Given the description of an element on the screen output the (x, y) to click on. 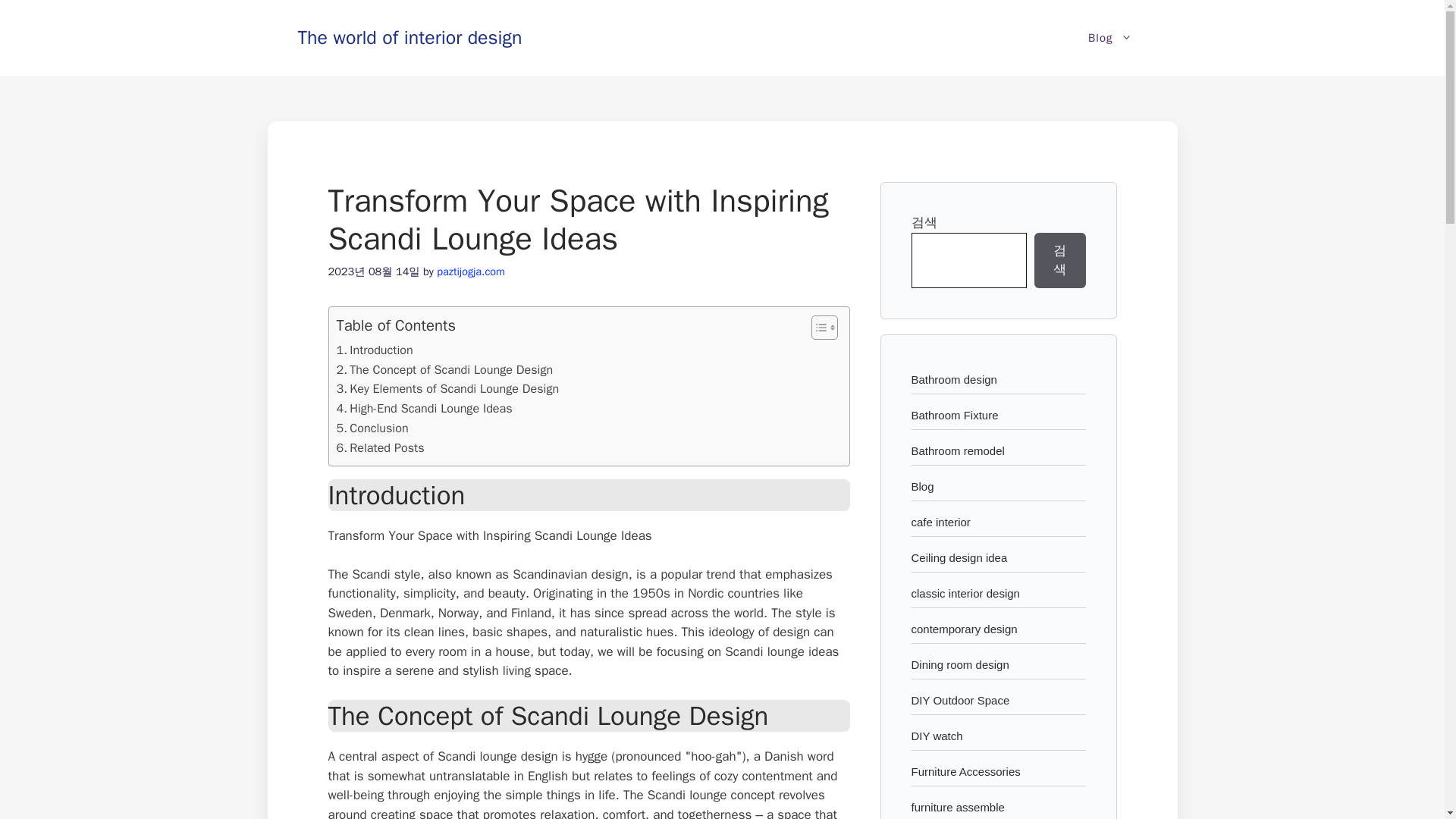
Bathroom remodel (957, 450)
Ceiling design idea (959, 556)
DIY Outdoor Space (960, 698)
Furniture Accessories (965, 770)
High-End Scandi Lounge Ideas (424, 408)
Blog (922, 485)
Bathroom Fixture (954, 413)
Introduction (374, 350)
Introduction (374, 350)
Related Posts (380, 447)
classic interior design (965, 593)
Blog (1110, 37)
Key Elements of Scandi Lounge Design (447, 388)
High-End Scandi Lounge Ideas (424, 408)
The Concept of Scandi Lounge Design (444, 370)
